Given the description of an element on the screen output the (x, y) to click on. 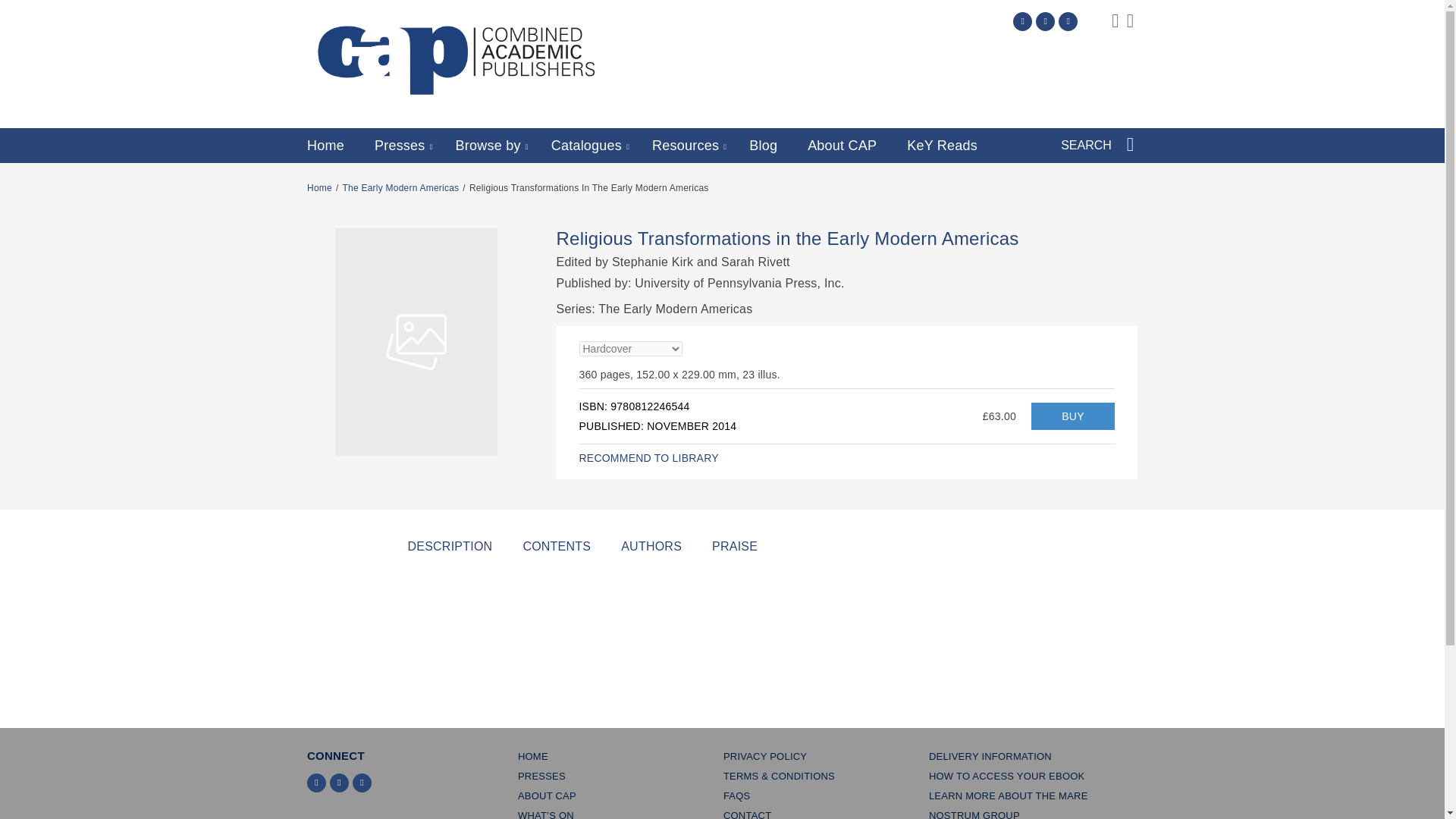
Religious Transformations in the Early Modern Americas (1072, 415)
Follow us on Facebook (339, 782)
Follow us on Instagram (361, 782)
Home (325, 145)
Follow us on Facebook (1044, 21)
Account (1115, 21)
Back to homepage (319, 187)
Browse by (488, 145)
Presses (399, 145)
Follow us on Instagram (1067, 21)
Recommend to Library (649, 458)
Catalogues (586, 145)
View results for The Early Modern Americas (401, 187)
